Given the description of an element on the screen output the (x, y) to click on. 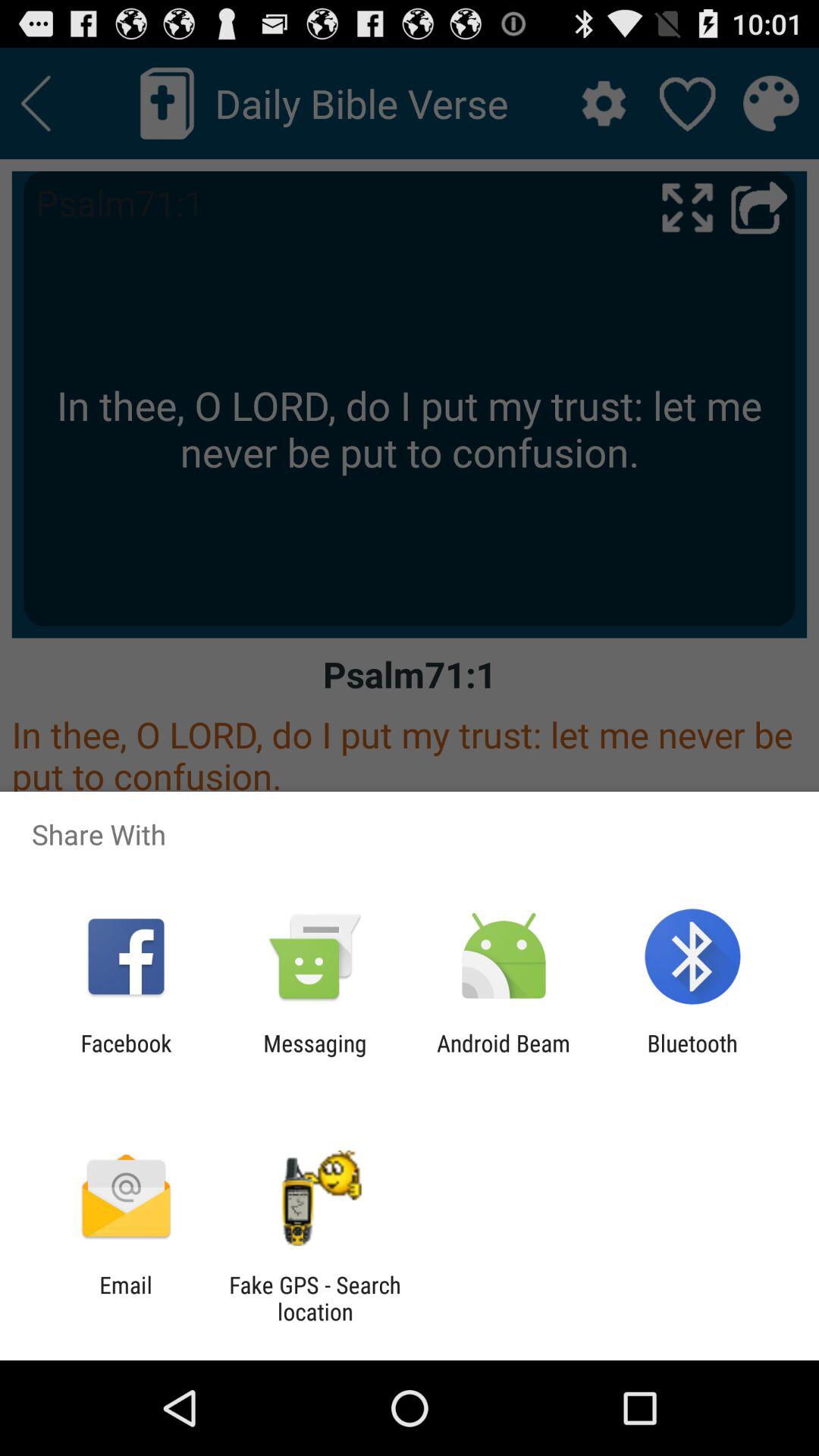
scroll to email item (125, 1298)
